Given the description of an element on the screen output the (x, y) to click on. 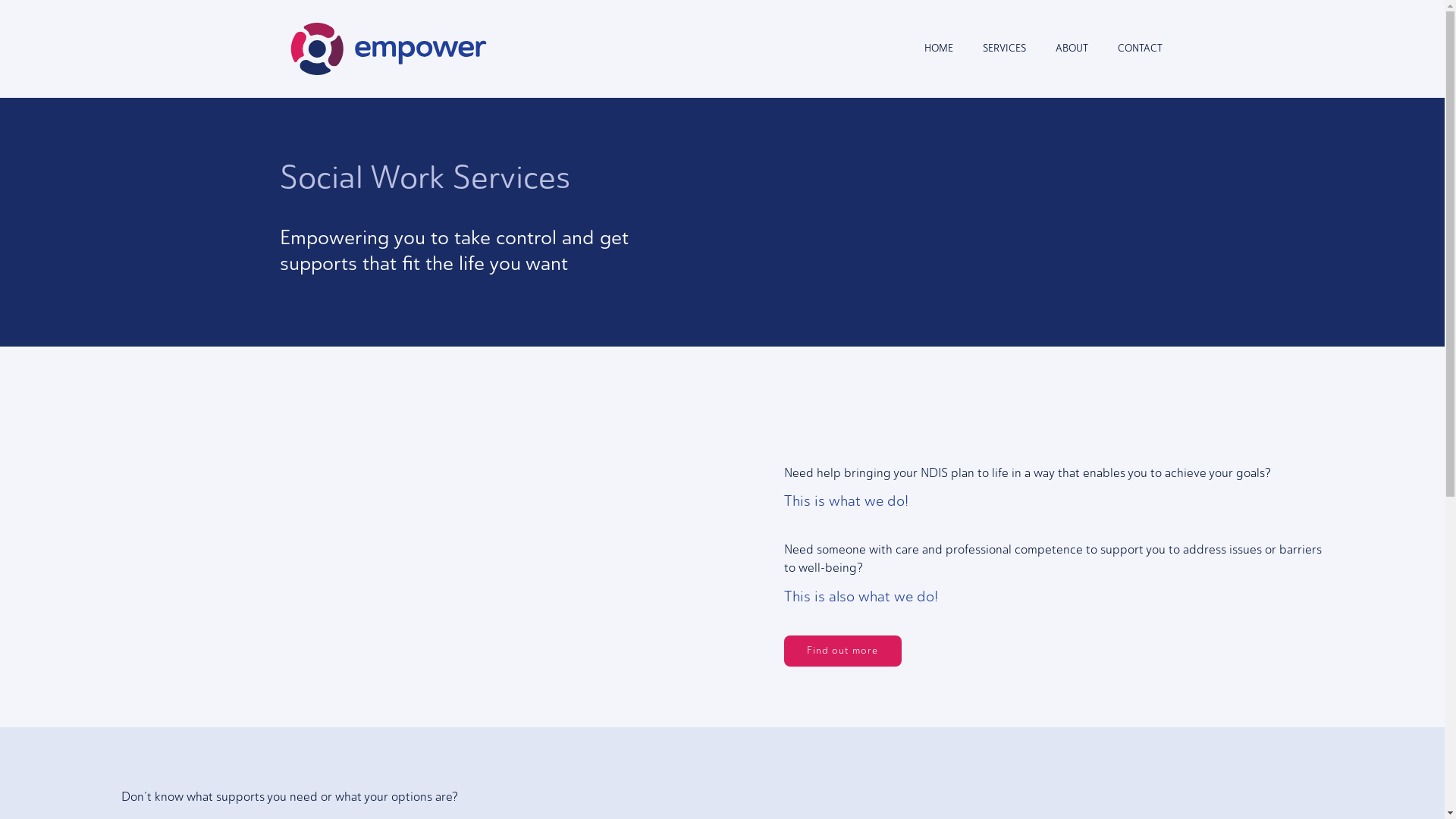
HOME Element type: text (939, 48)
ABOUT Element type: text (1071, 48)
CONTACT Element type: text (1139, 48)
SERVICES Element type: text (1003, 48)
Find out more Element type: text (842, 650)
